Given the description of an element on the screen output the (x, y) to click on. 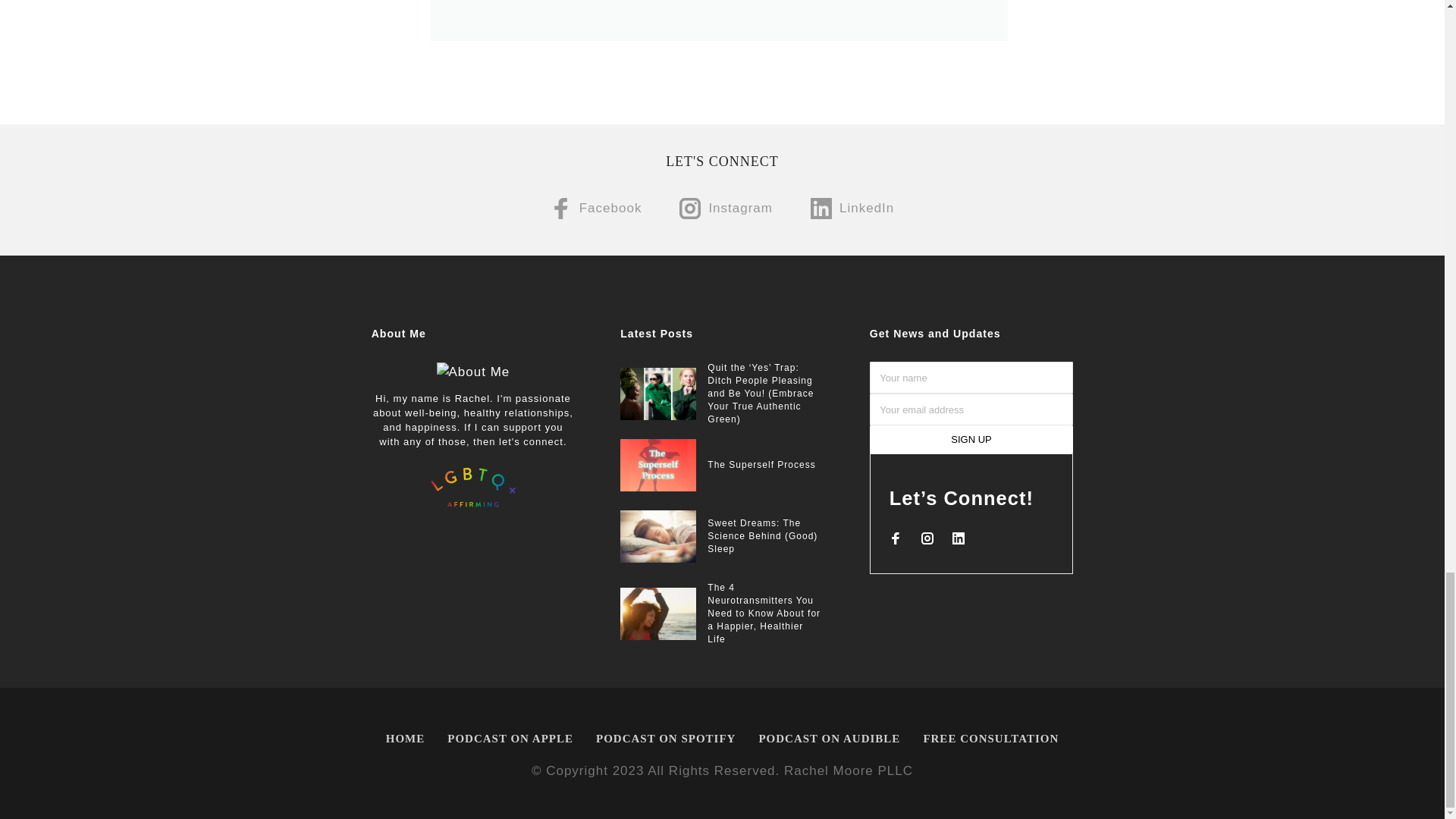
LinkedIn (851, 208)
PODCAST ON SPOTIFY (665, 738)
HOME (405, 738)
PODCAST ON AUDIBLE (828, 738)
Sign up (971, 439)
Instagram (726, 208)
FREE CONSULTATION (990, 738)
Facebook (596, 208)
Sign up (971, 439)
PODCAST ON APPLE (510, 738)
The Superself Process (761, 464)
